Given the description of an element on the screen output the (x, y) to click on. 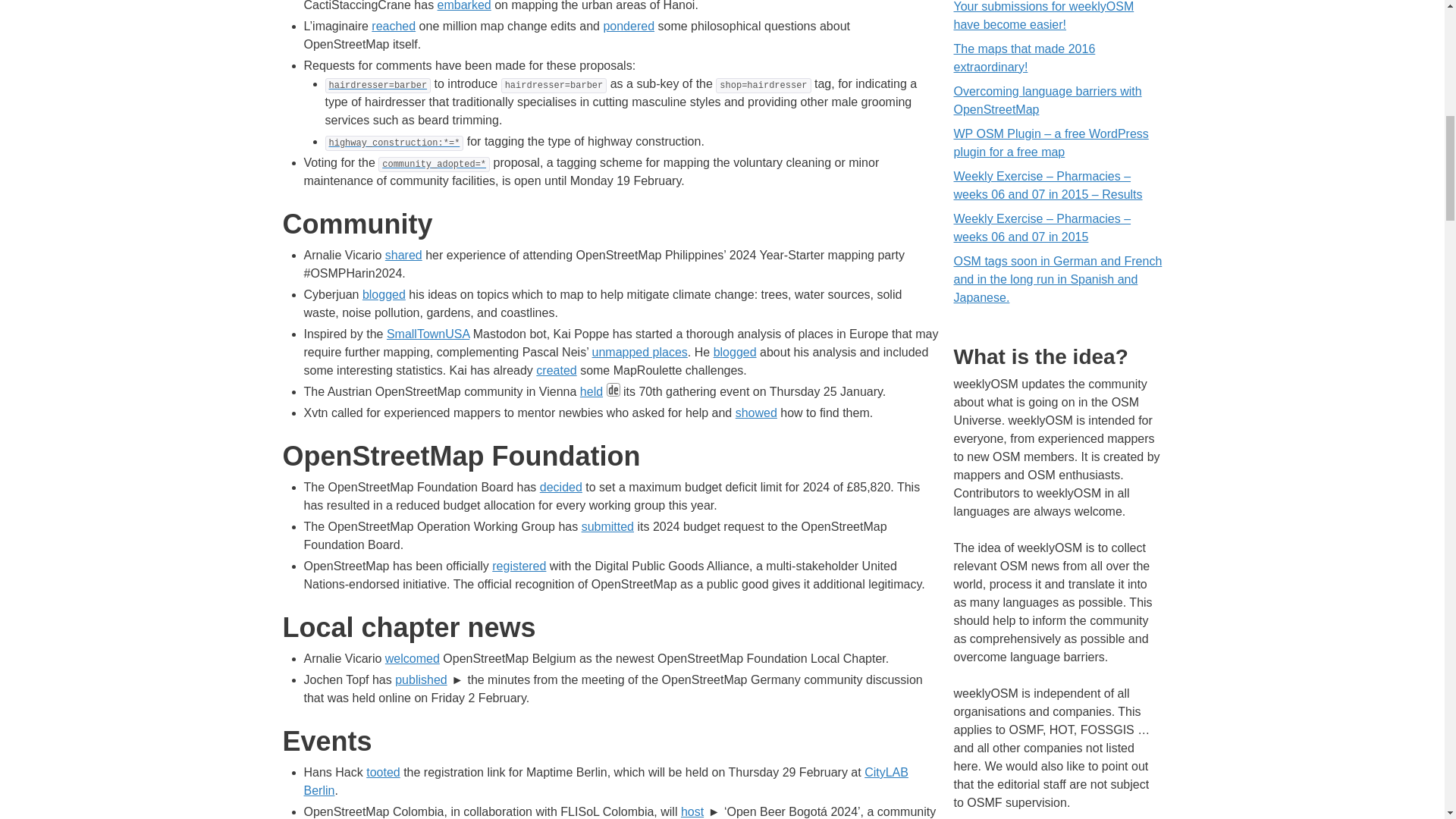
pondered (627, 25)
embarked (465, 5)
created (555, 369)
SmallTownUSA (427, 333)
unmapped places (639, 351)
blogged (384, 294)
shared (403, 254)
blogged (735, 351)
reached (392, 25)
